Given the description of an element on the screen output the (x, y) to click on. 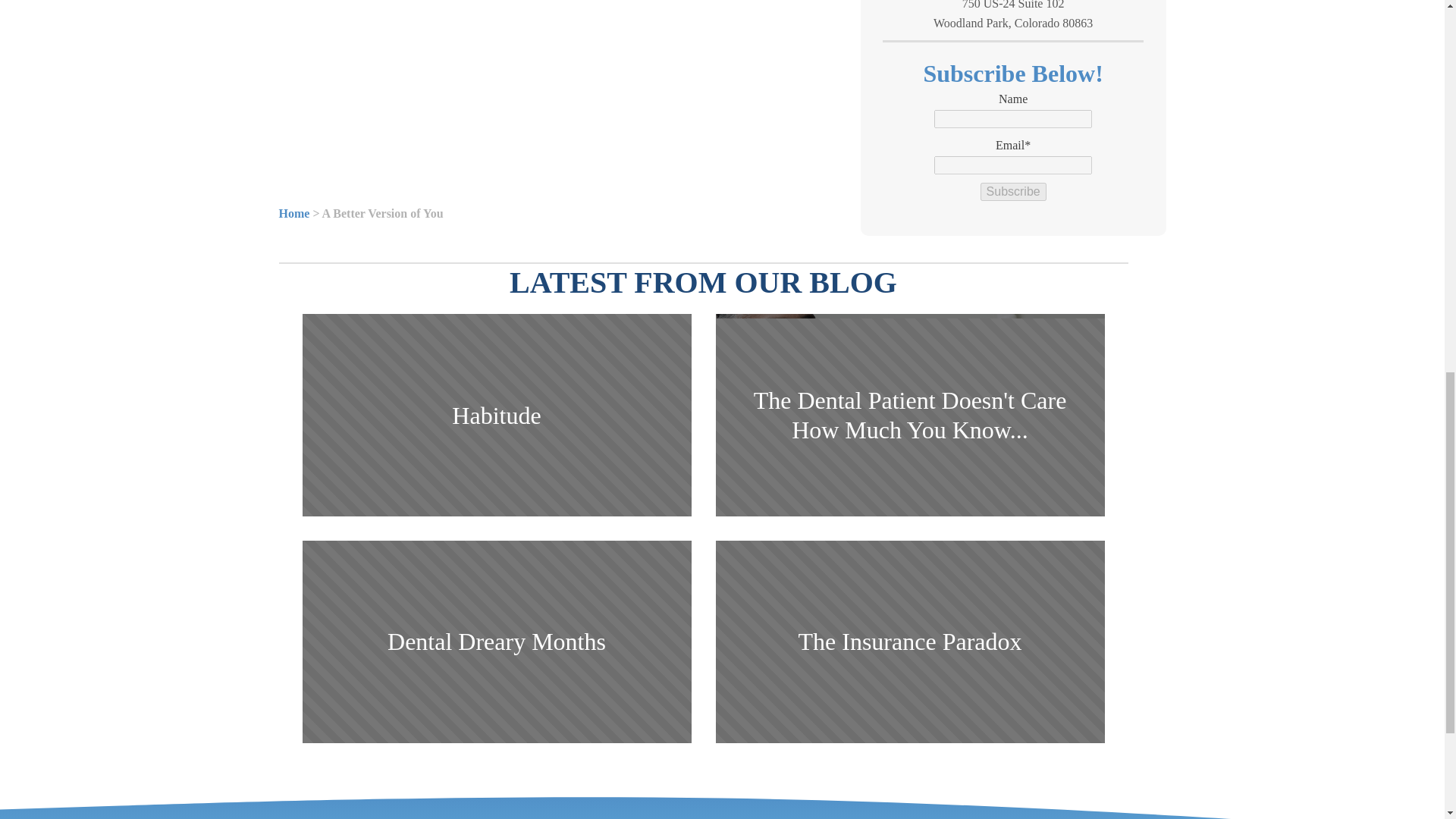
Subscribe (1012, 191)
The Dental Patient Doesn't Care How Much You Know... (909, 415)
How to: Build A Better Version of You (561, 89)
Home (294, 213)
Habitude (1013, 16)
The Insurance Paradox (496, 415)
Dental Dreary Months (909, 641)
Subscribe (496, 641)
LATEST FROM OUR BLOG (1012, 191)
